Given the description of an element on the screen output the (x, y) to click on. 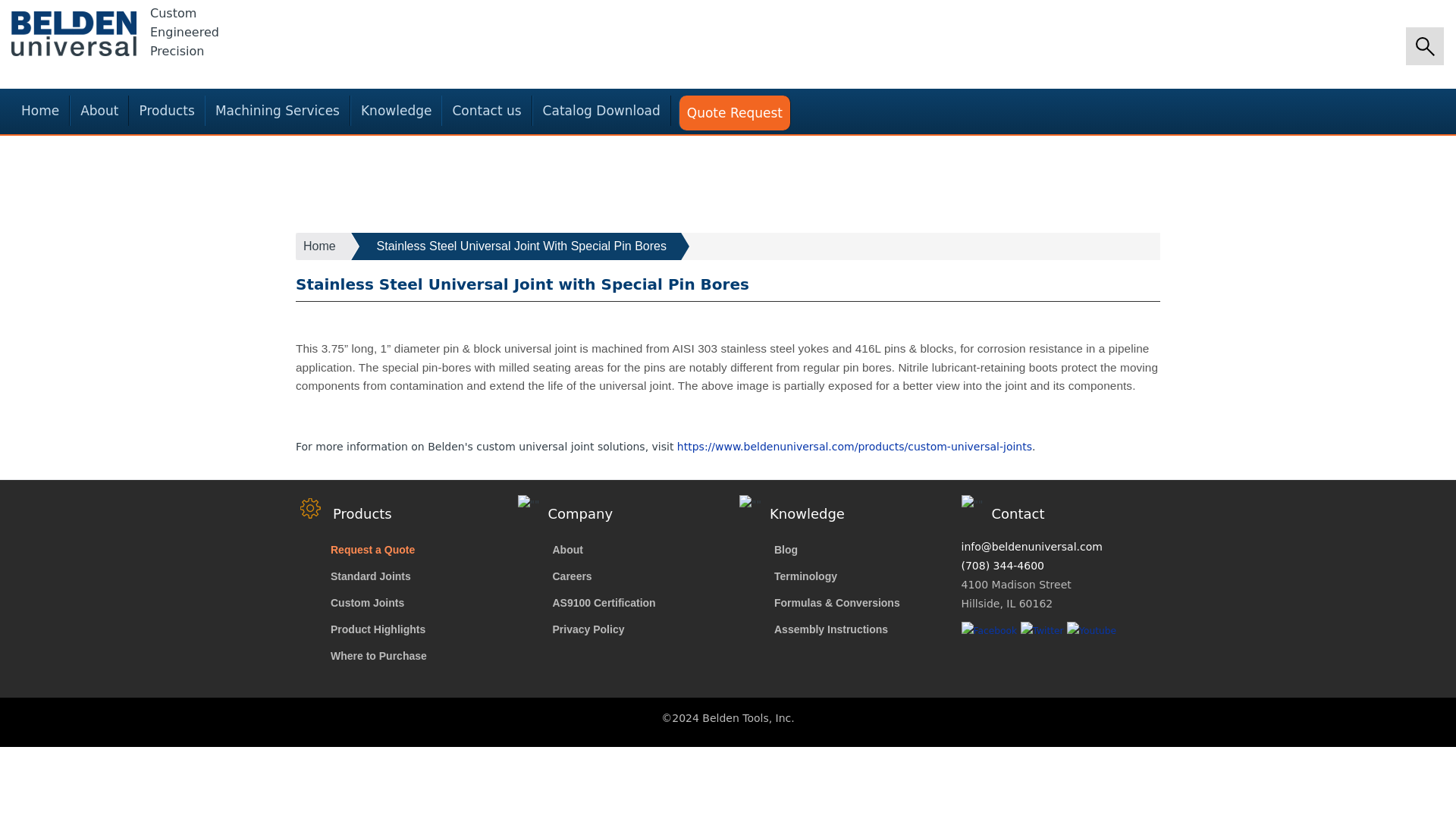
Home (39, 110)
Knowledge (395, 110)
About (98, 110)
Products (166, 110)
Machining Services (277, 110)
Home (73, 33)
